Given the description of an element on the screen output the (x, y) to click on. 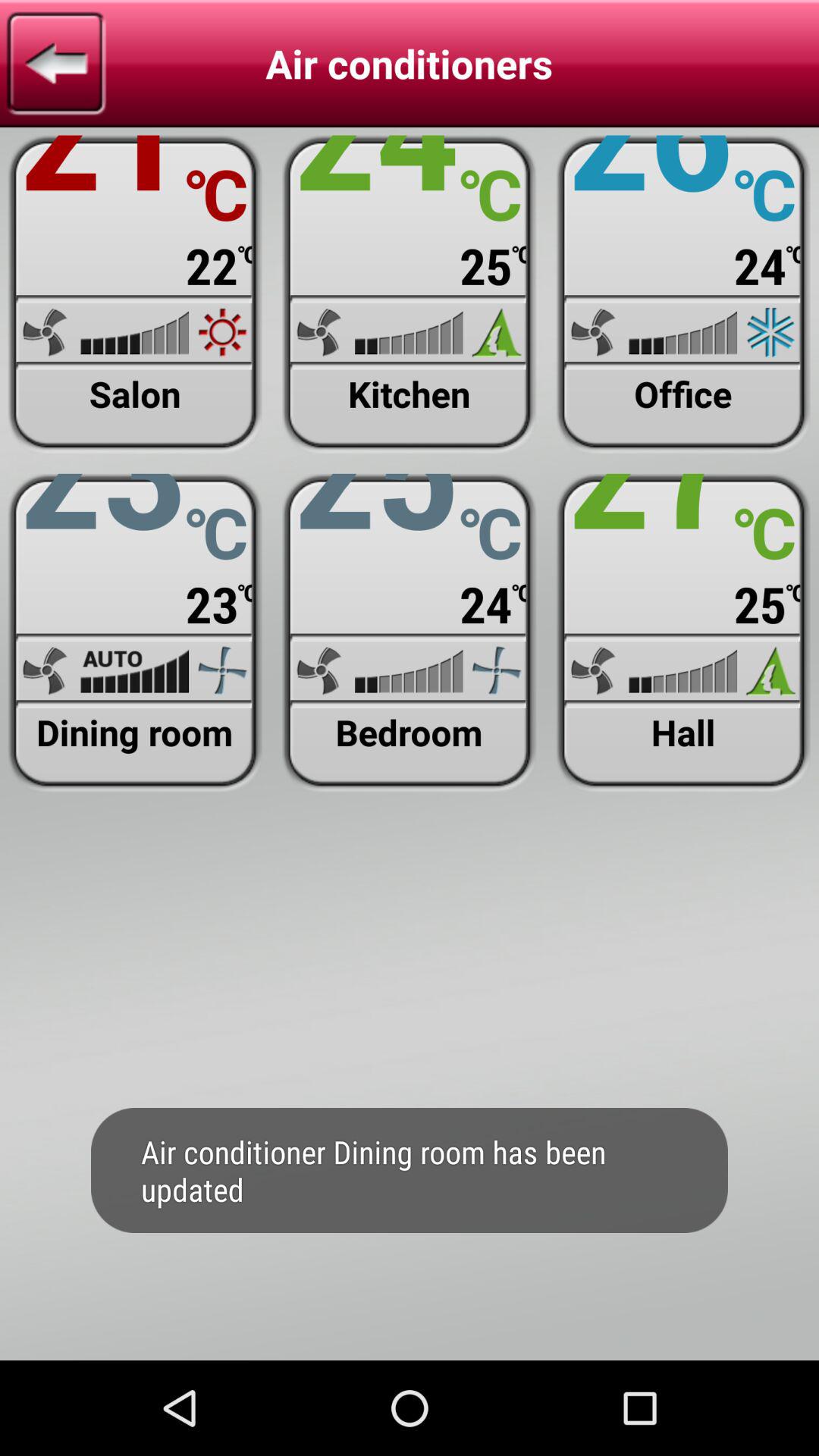
screen page (134, 632)
